Given the description of an element on the screen output the (x, y) to click on. 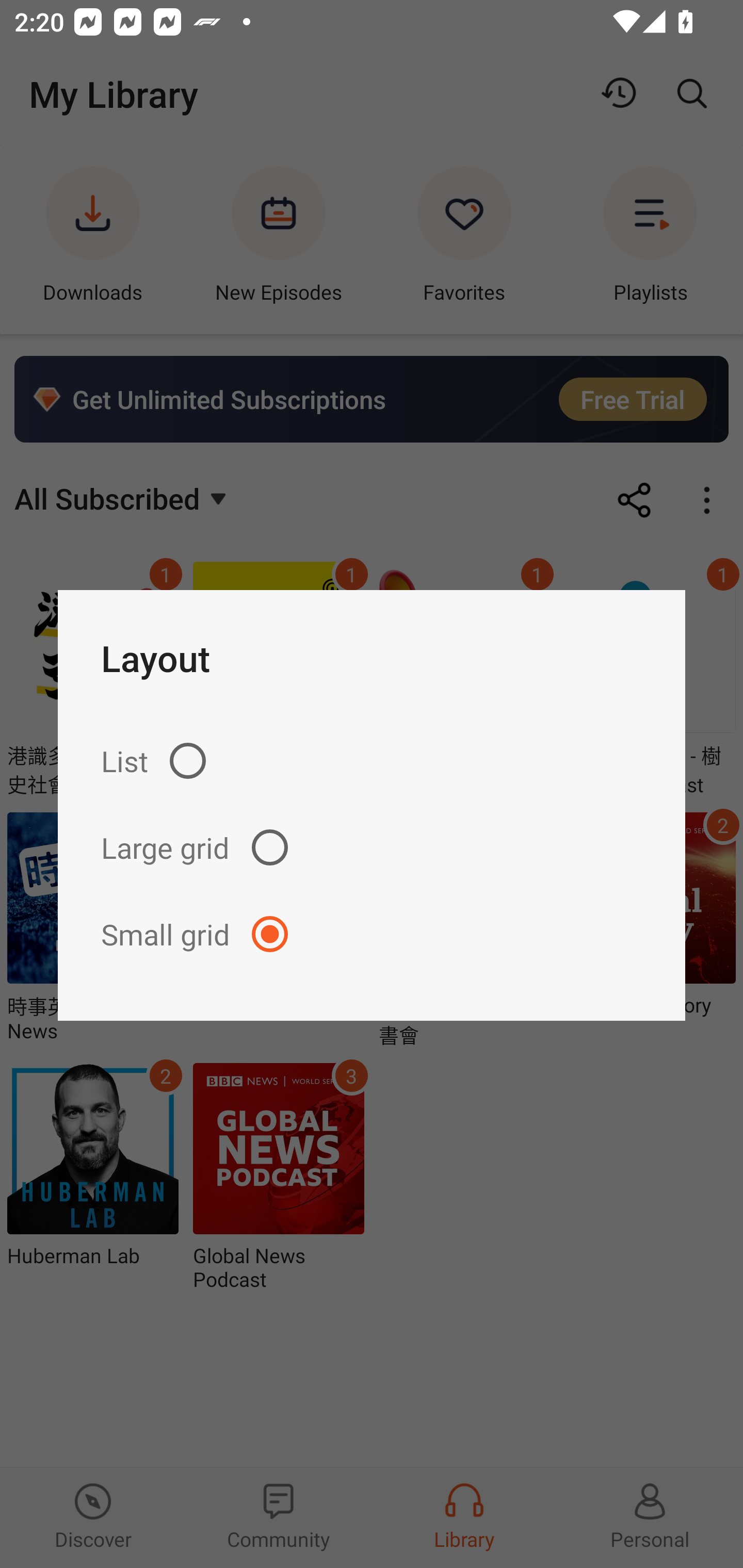
List (371, 761)
Large grid (371, 847)
Small grid (371, 933)
